Given the description of an element on the screen output the (x, y) to click on. 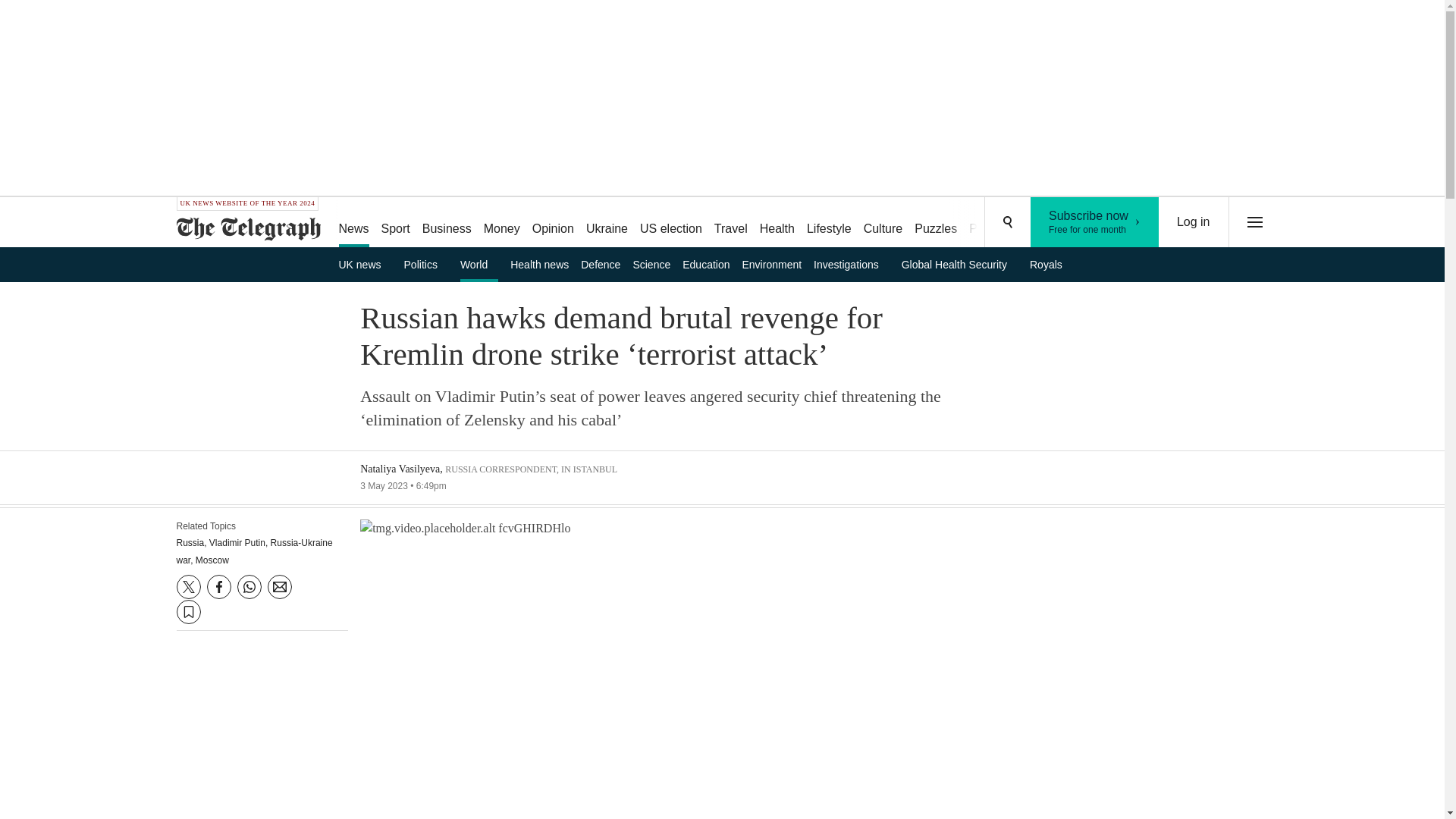
Lifestyle (828, 223)
Health (777, 223)
Money (501, 223)
UK news (364, 264)
Podcasts (993, 223)
Ukraine (1094, 222)
Log in (606, 223)
US election (1193, 222)
Business (670, 223)
